Given the description of an element on the screen output the (x, y) to click on. 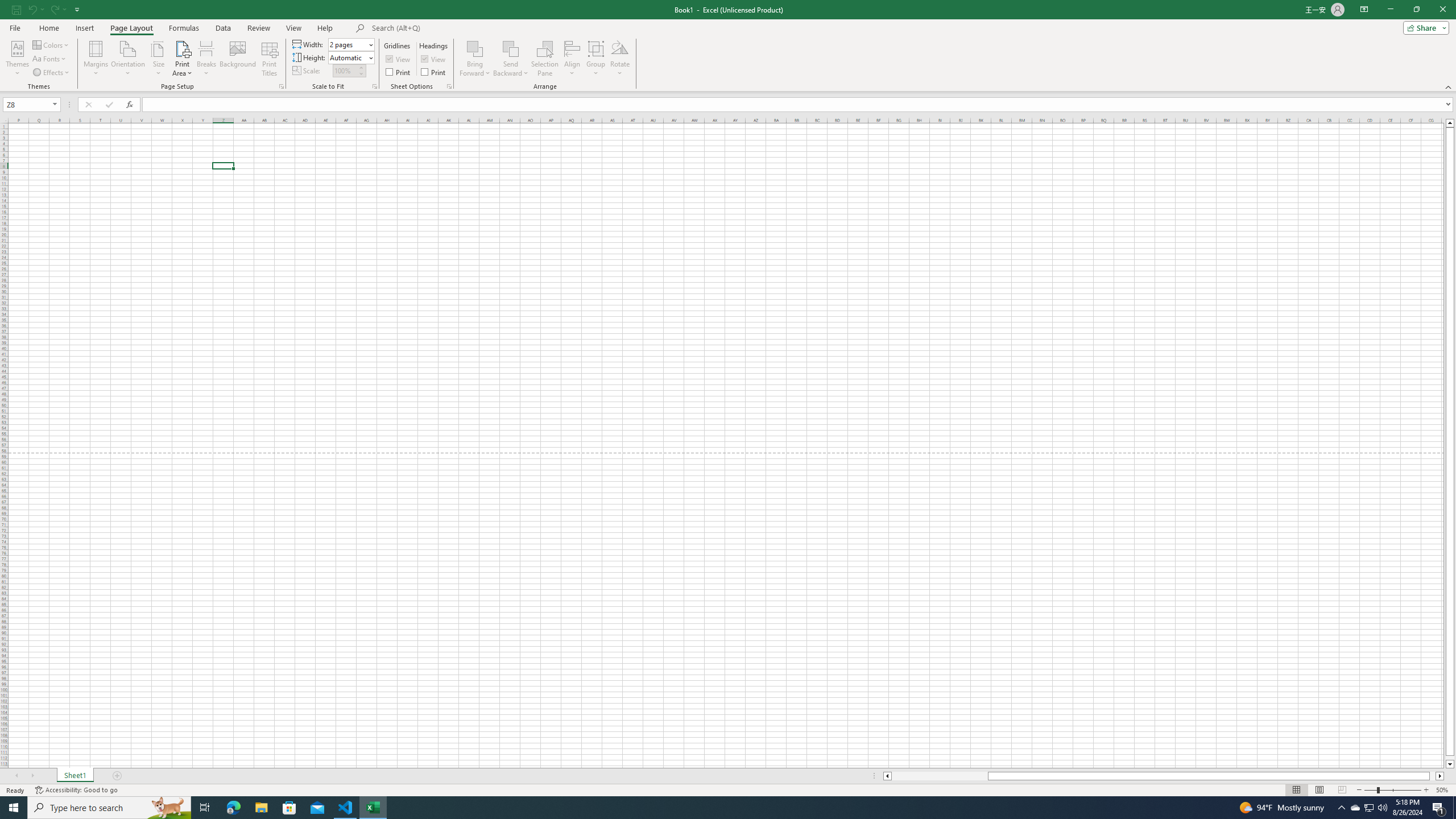
Width (347, 44)
More (360, 67)
Page left (939, 775)
